Given the description of an element on the screen output the (x, y) to click on. 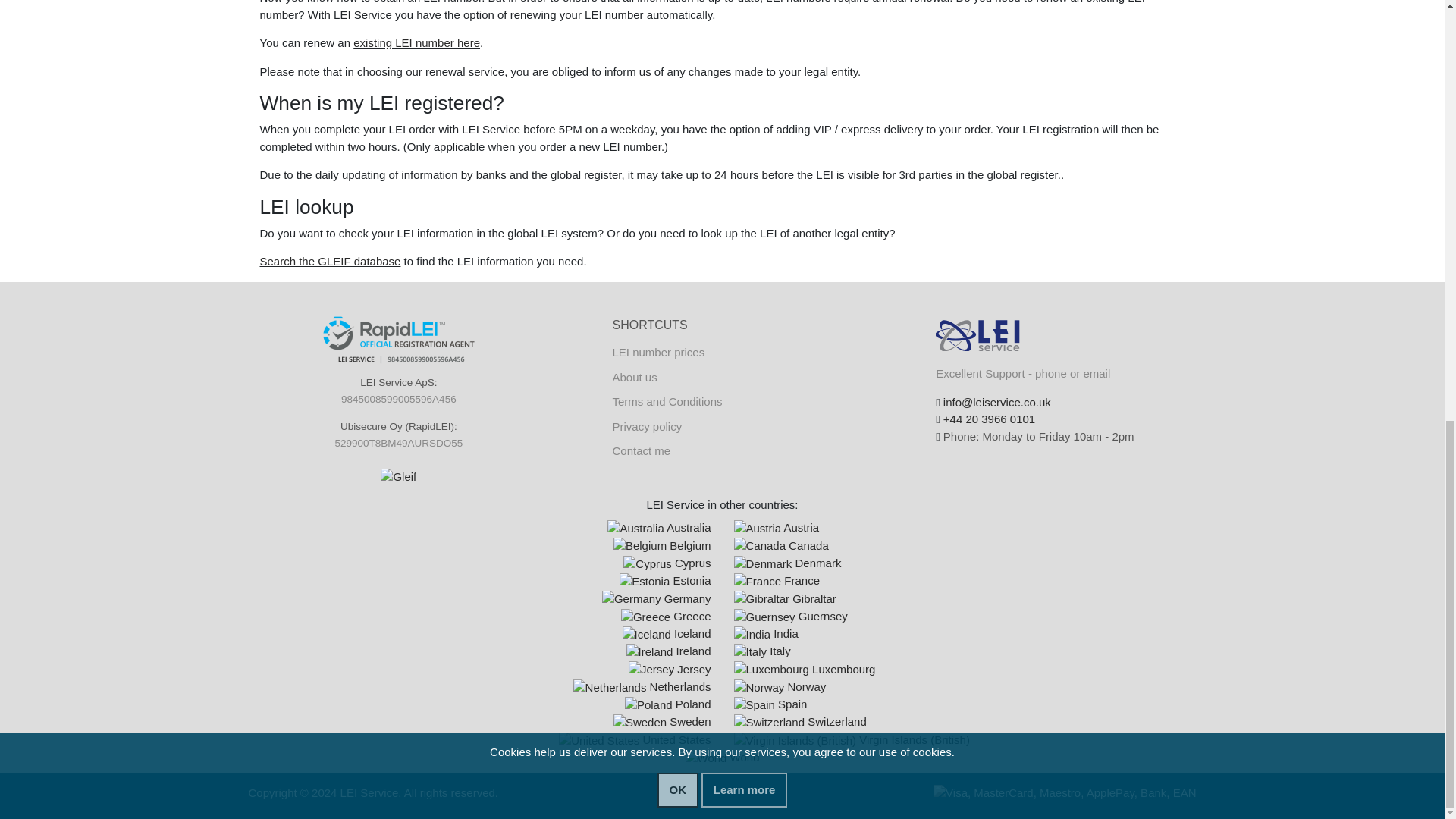
Canada (780, 545)
Logo (978, 340)
Cyprus (647, 564)
Austria (776, 526)
Belgium (661, 545)
Austria (757, 528)
existing LEI number here (416, 42)
Belgium (639, 546)
Terms and Conditions (666, 400)
Australia (658, 526)
Cyprus (666, 562)
Denmark (762, 564)
9845008599005596A456 (398, 398)
Austria (776, 526)
France (757, 581)
